Given the description of an element on the screen output the (x, y) to click on. 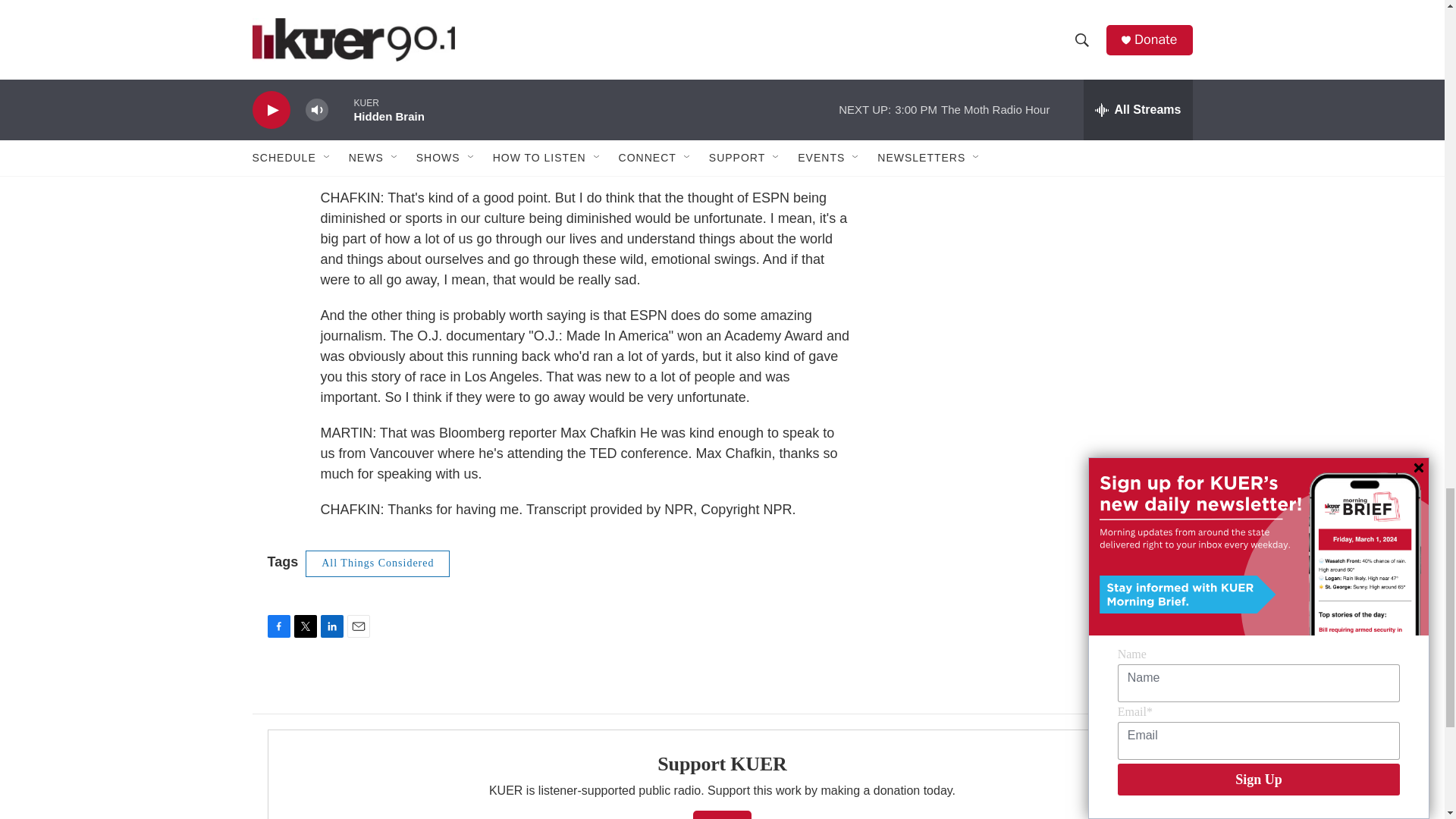
3rd party ad content (1062, 24)
